Given the description of an element on the screen output the (x, y) to click on. 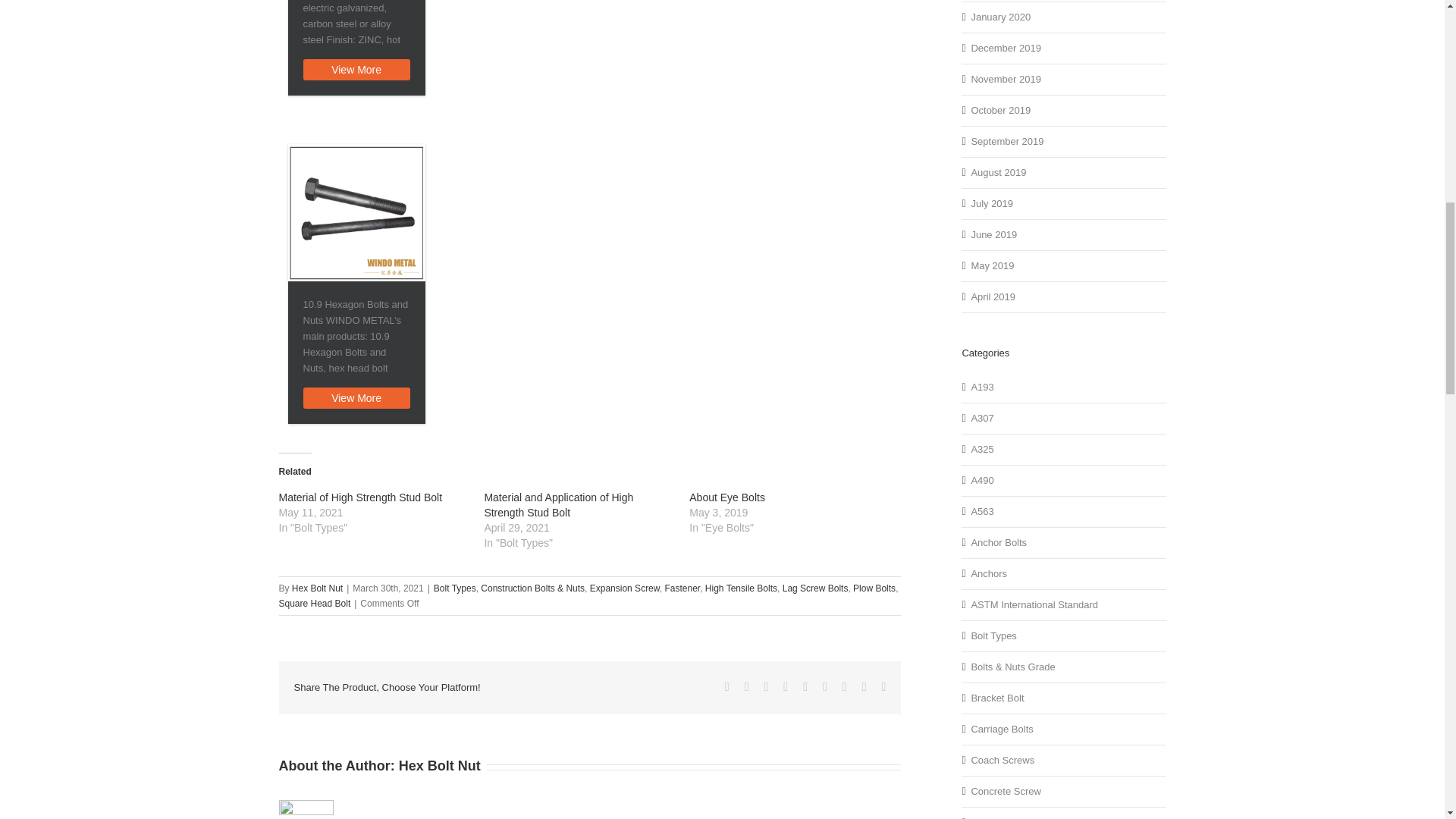
About Eye Bolts (726, 497)
Material and Application of High Strength Stud Bolt (558, 504)
Material of High Strength Stud Bolt (360, 497)
Posts by Hex Bolt Nut (439, 765)
Posts by Hex Bolt Nut (317, 588)
